Given the description of an element on the screen output the (x, y) to click on. 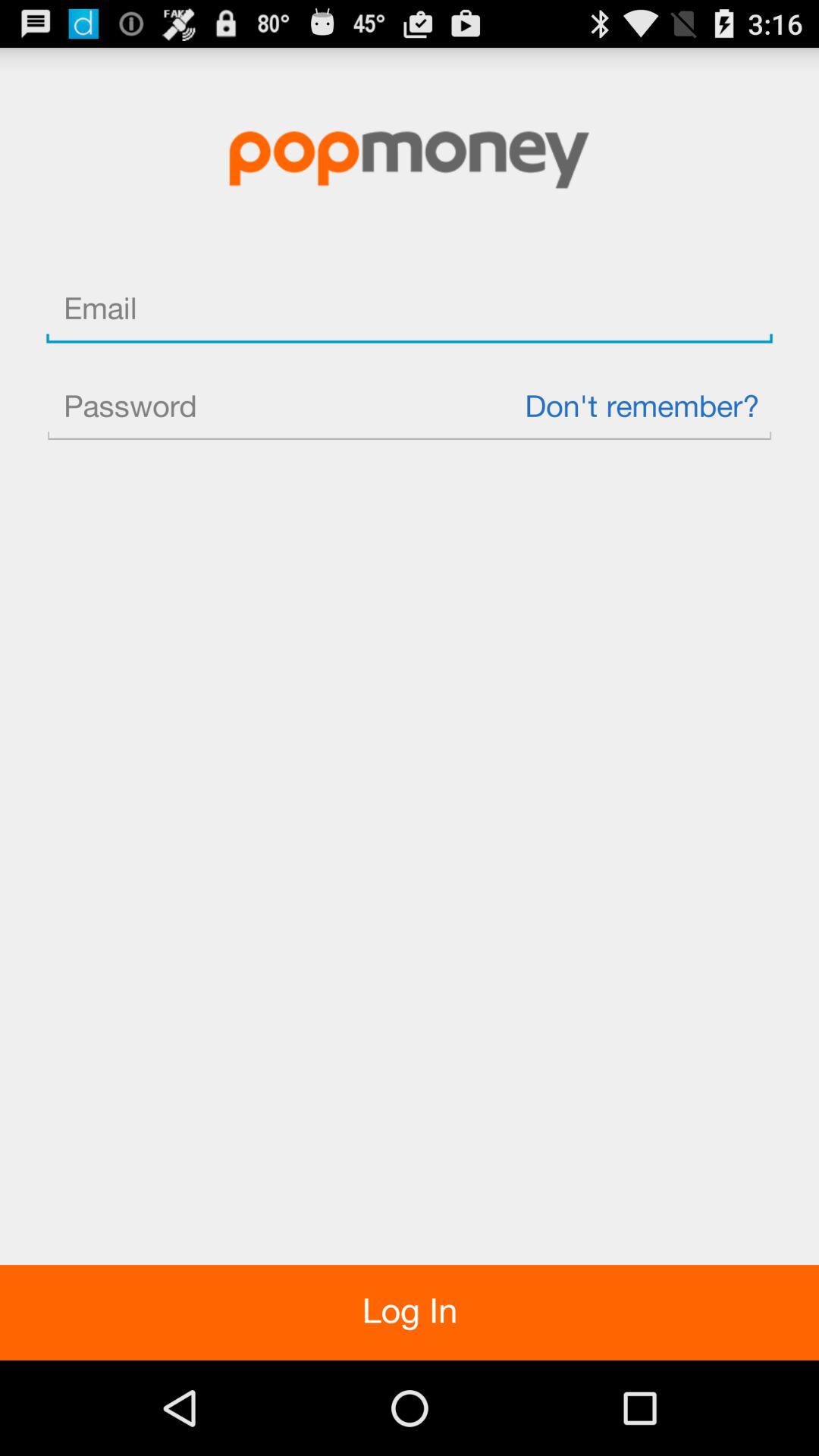
turn off the icon above log in icon (409, 408)
